Given the description of an element on the screen output the (x, y) to click on. 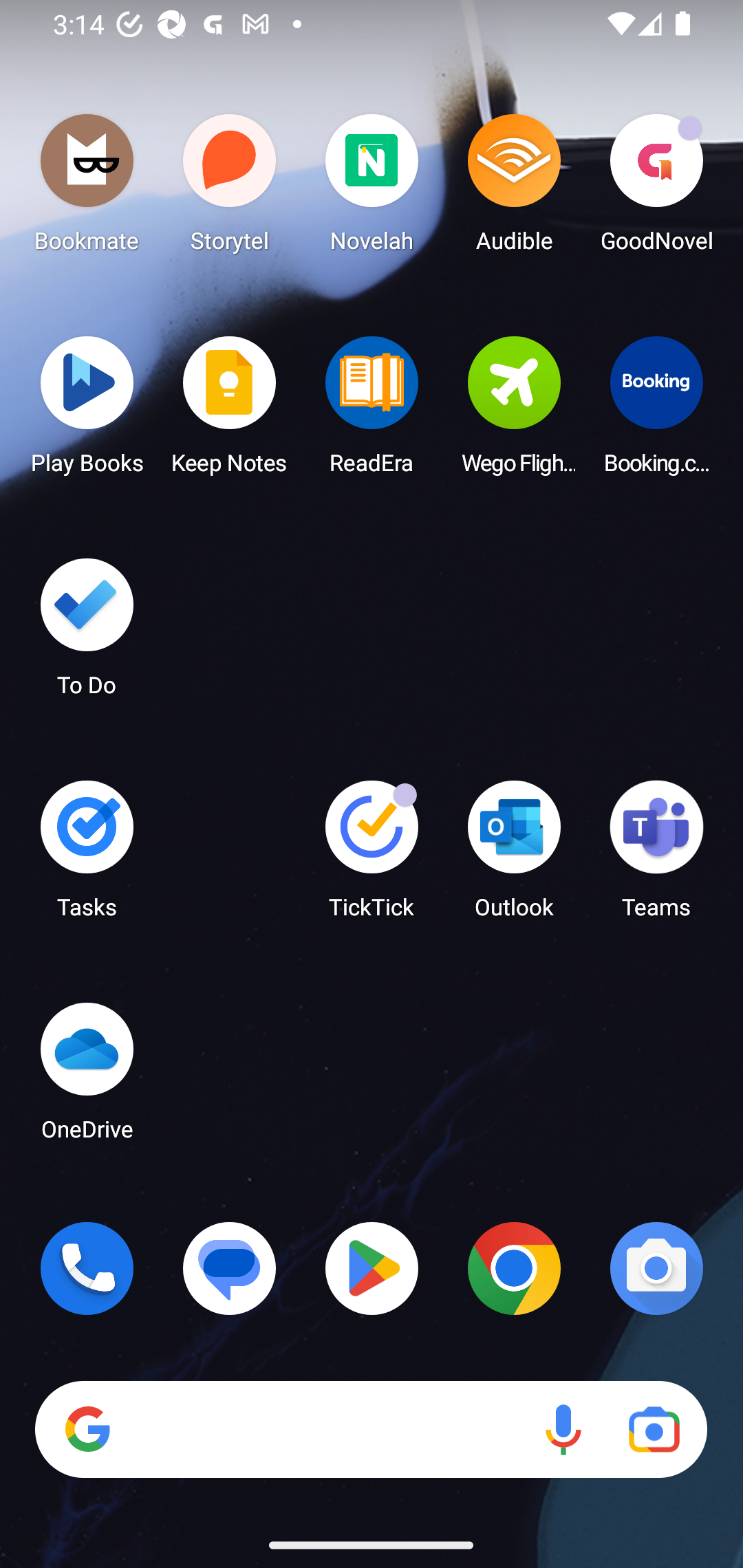
Bookmate (86, 188)
Storytel (229, 188)
Novelah (371, 188)
Audible (513, 188)
GoodNovel GoodNovel has 1 notification (656, 188)
Play Books (86, 410)
Keep Notes (229, 410)
ReadEra (371, 410)
Wego Flights & Hotels (513, 410)
Booking.com (656, 410)
To Do (86, 633)
Tasks (86, 854)
TickTick TickTick has 3 notifications (371, 854)
Outlook (513, 854)
Teams (656, 854)
OneDrive (86, 1076)
Phone (86, 1268)
Messages (229, 1268)
Play Store (371, 1268)
Chrome (513, 1268)
Camera (656, 1268)
Search Voice search Google Lens (370, 1429)
Voice search (562, 1429)
Google Lens (653, 1429)
